Given the description of an element on the screen output the (x, y) to click on. 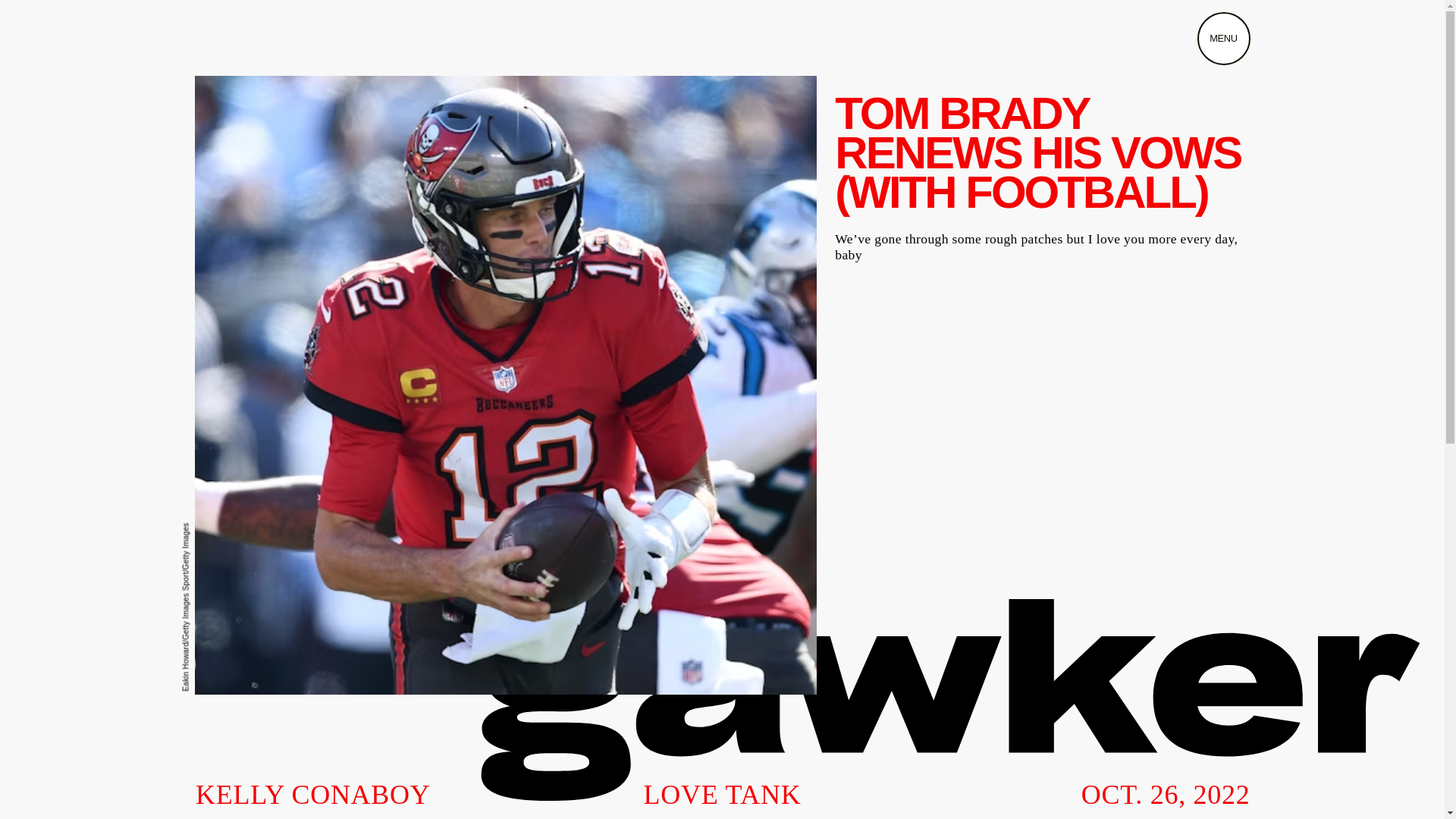
KELLY CONABOY (312, 794)
